Given the description of an element on the screen output the (x, y) to click on. 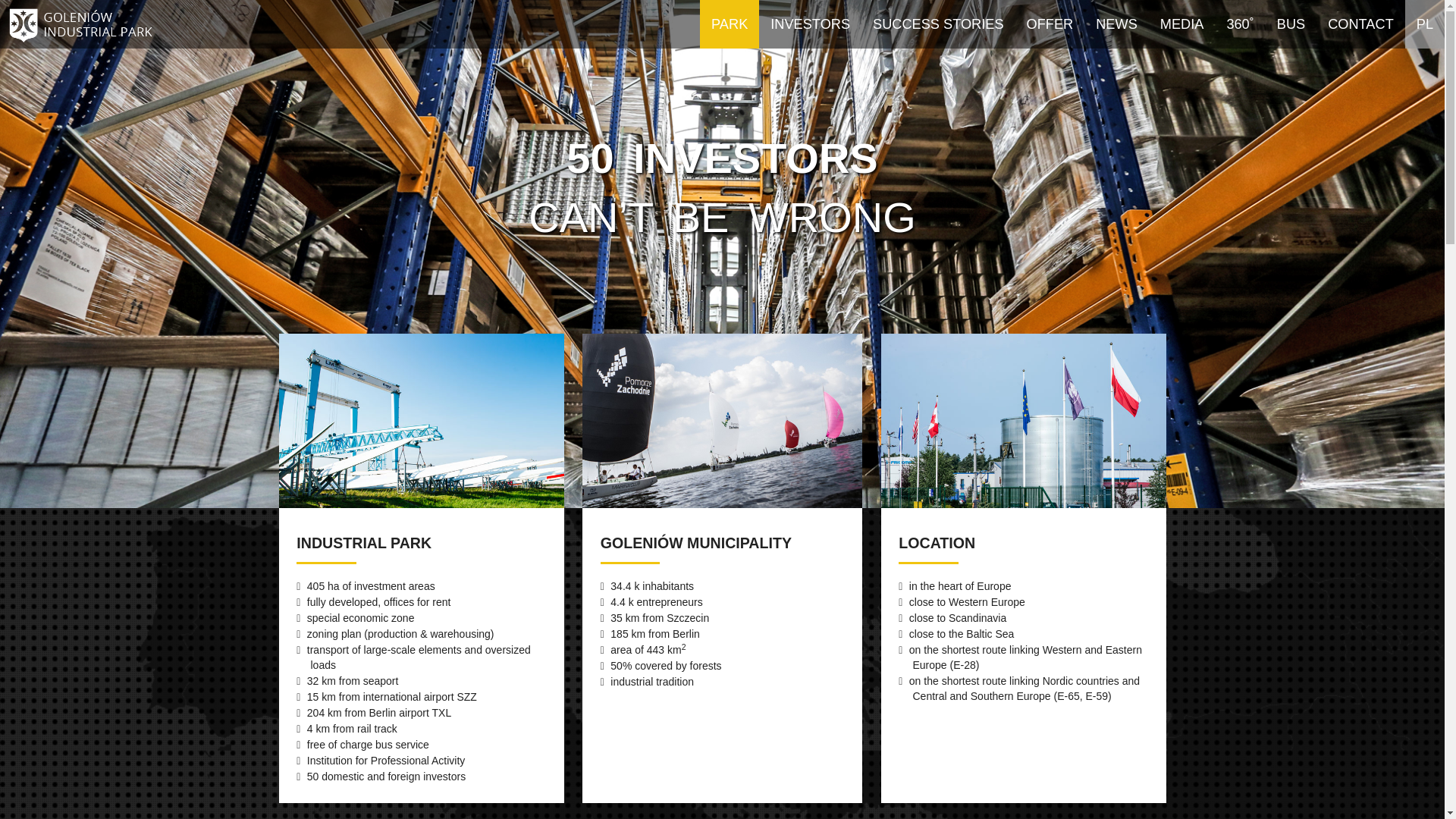
NEWS Element type: text (1116, 24)
INVESTORS Element type: text (810, 24)
MEDIA Element type: text (1181, 24)
BUS Element type: text (1290, 24)
CONTACT Element type: text (1360, 24)
PARK Element type: text (729, 24)
PL Element type: text (1424, 24)
OFFER Element type: text (1050, 24)
SUCCESS STORIES Element type: text (938, 24)
